Given the description of an element on the screen output the (x, y) to click on. 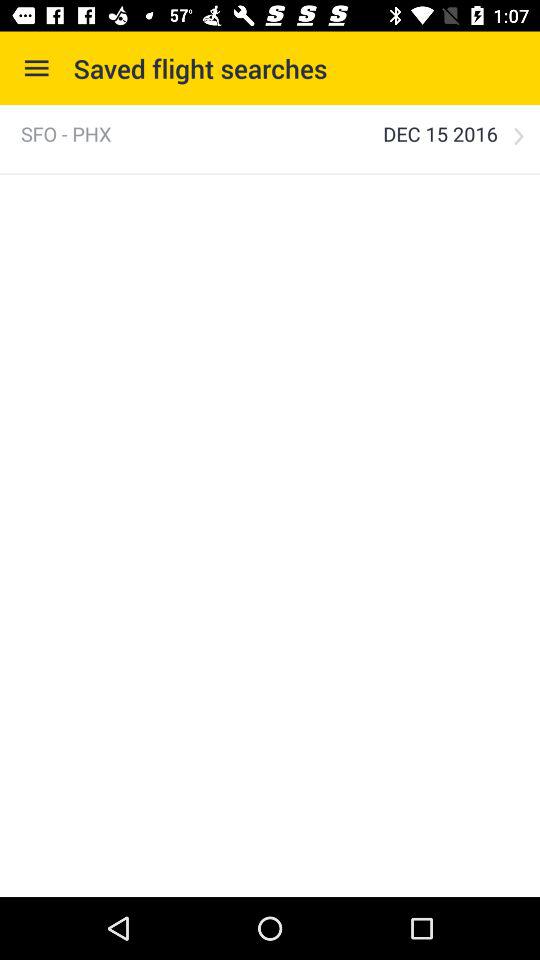
turn off the dec 15 2016 icon (440, 133)
